Given the description of an element on the screen output the (x, y) to click on. 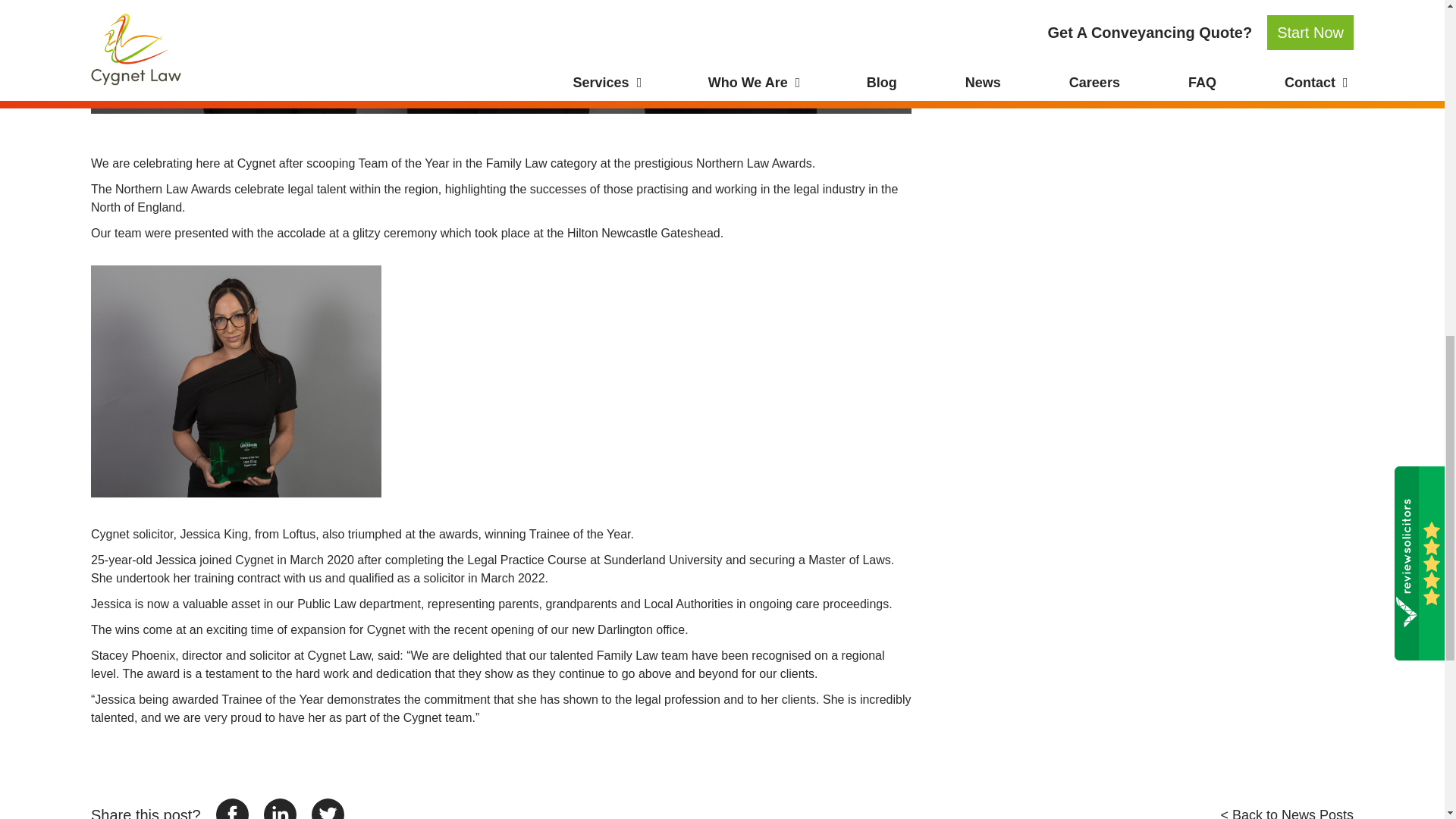
Click to share this post on Twitter (327, 808)
Click to share this post on Facebook (231, 808)
Click to share this post on LinkedIn (280, 808)
Northern Law Awards 2022 63 (500, 56)
